Given the description of an element on the screen output the (x, y) to click on. 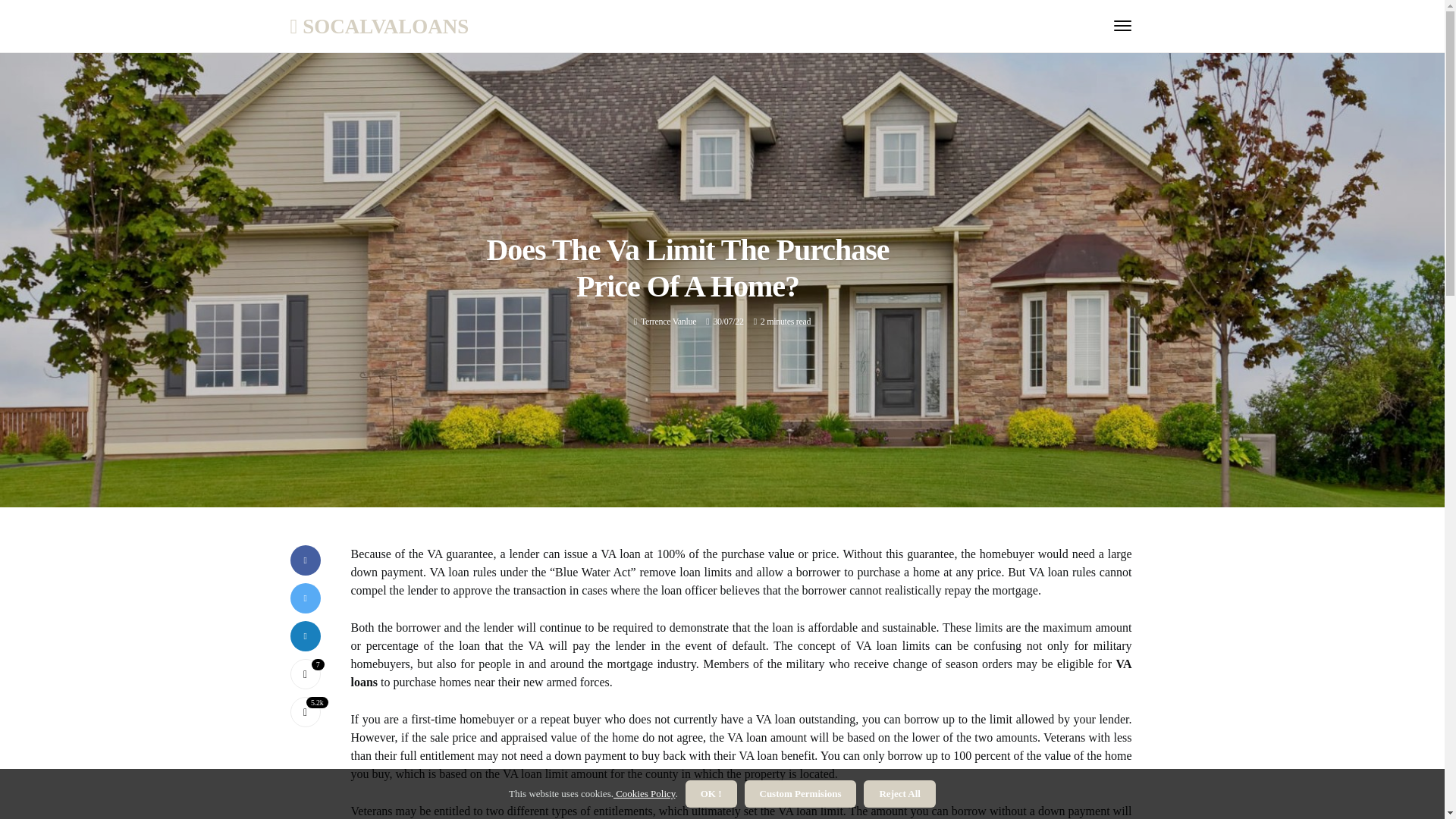
7 (304, 674)
Like (304, 674)
Posts by Terrence Vanlue (667, 321)
Terrence Vanlue (667, 321)
SOCALVALOANS (378, 26)
